Given the description of an element on the screen output the (x, y) to click on. 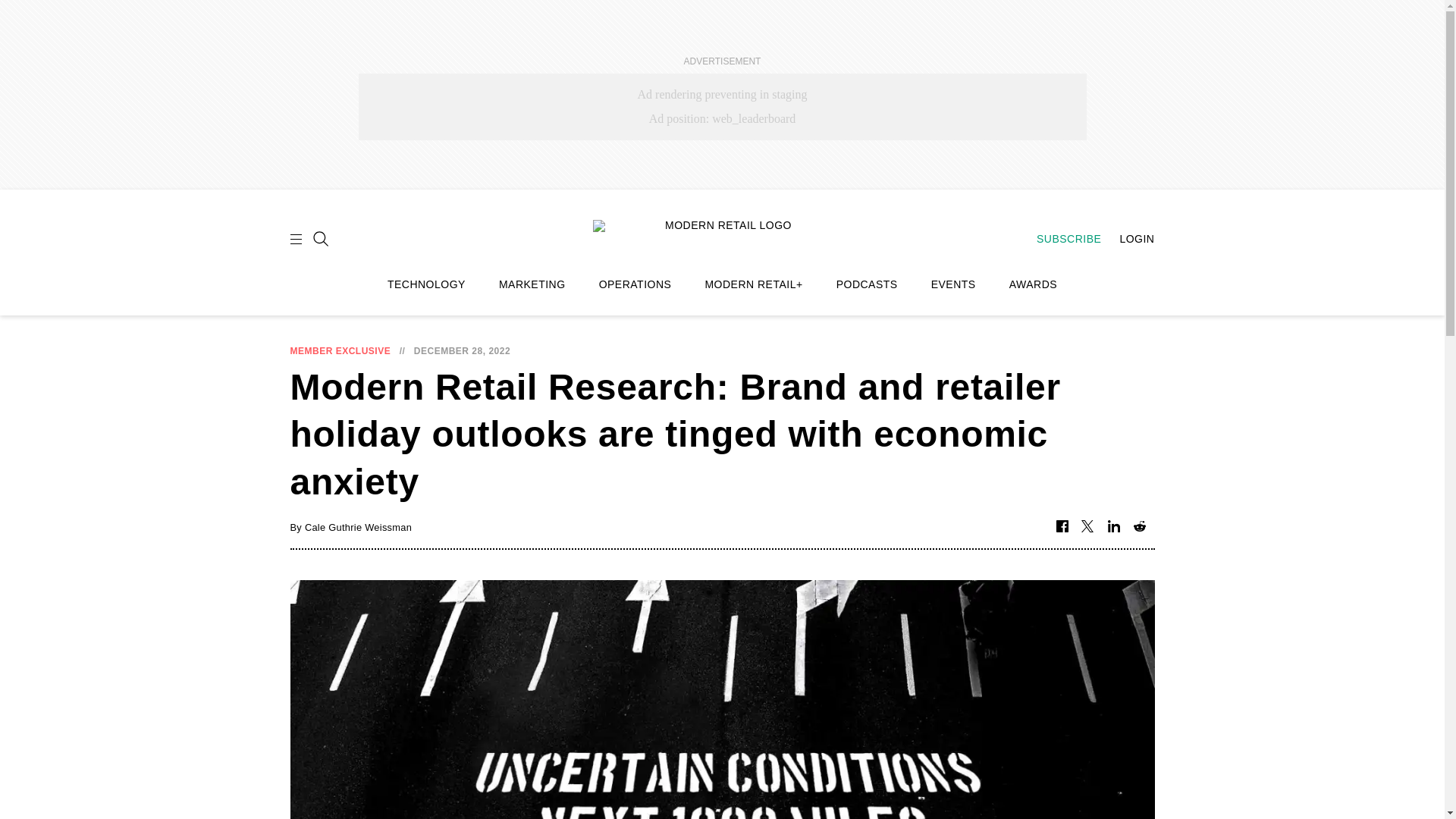
SUBSCRIBE (1061, 238)
PODCASTS (866, 284)
LOGIN (1128, 238)
MARKETING (532, 284)
Share on Reddit (1139, 526)
EVENTS (953, 284)
OPERATIONS (634, 284)
Share on Facebook (1061, 526)
Share on Twitter (1087, 526)
TECHNOLOGY (426, 284)
